Given the description of an element on the screen output the (x, y) to click on. 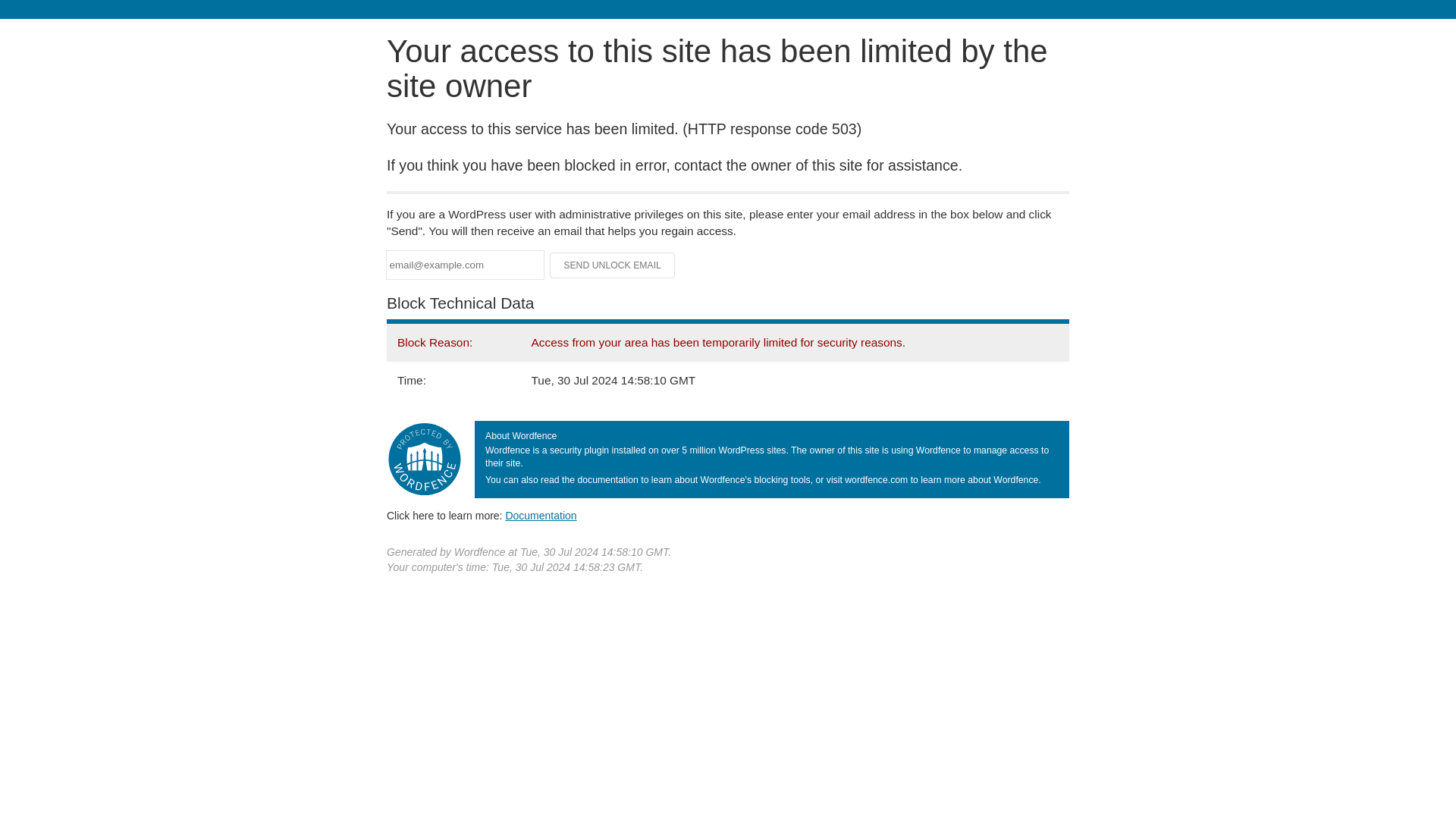
Documentation (540, 515)
Send Unlock Email (612, 265)
Send Unlock Email (612, 265)
